Given the description of an element on the screen output the (x, y) to click on. 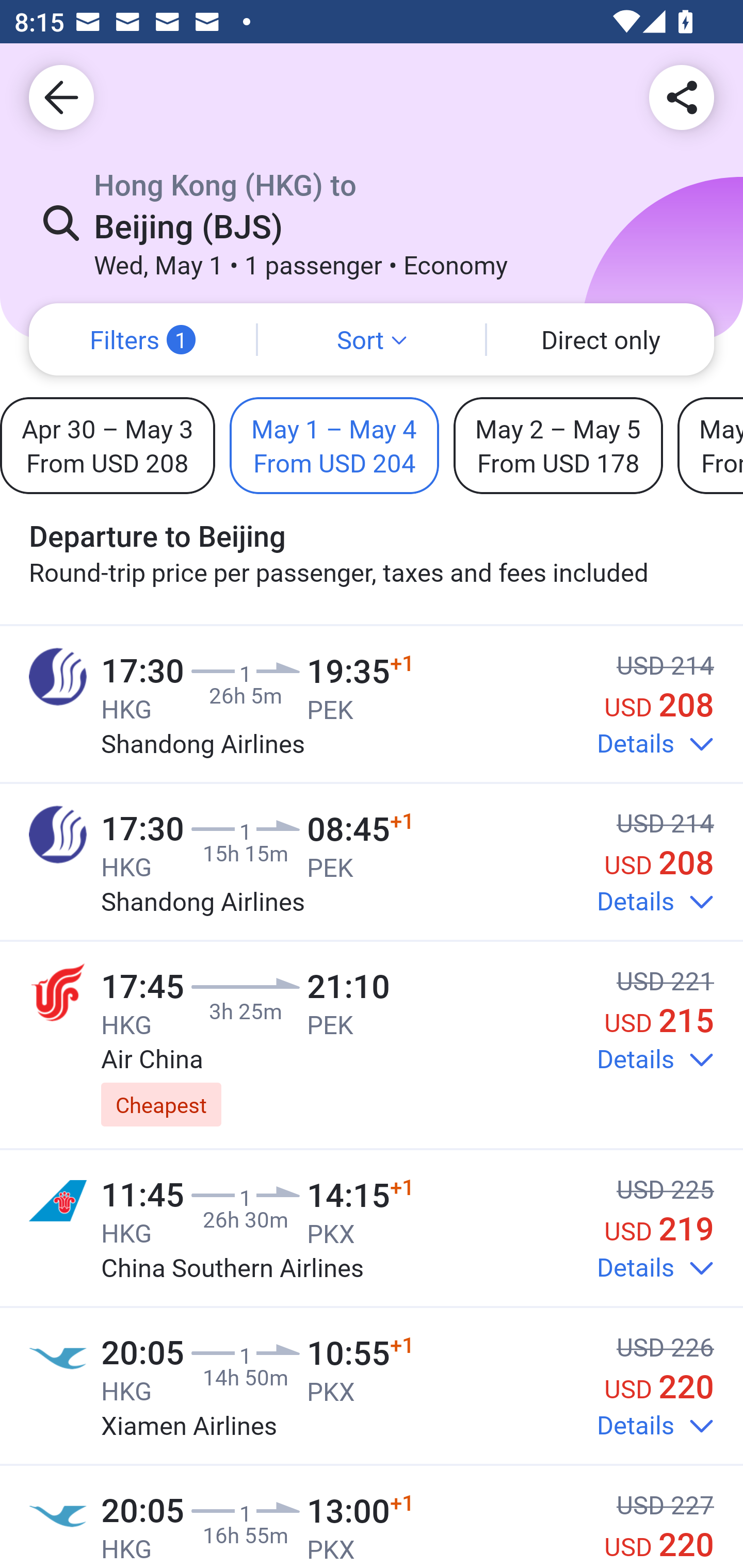
Filters 1 (141, 339)
Sort (371, 339)
Direct only (600, 339)
Apr 30 – May 3 From USD 208 (107, 444)
May 1 – May 4 From USD 204 (334, 444)
May 2 – May 5 From USD 178 (557, 444)
